Given the description of an element on the screen output the (x, y) to click on. 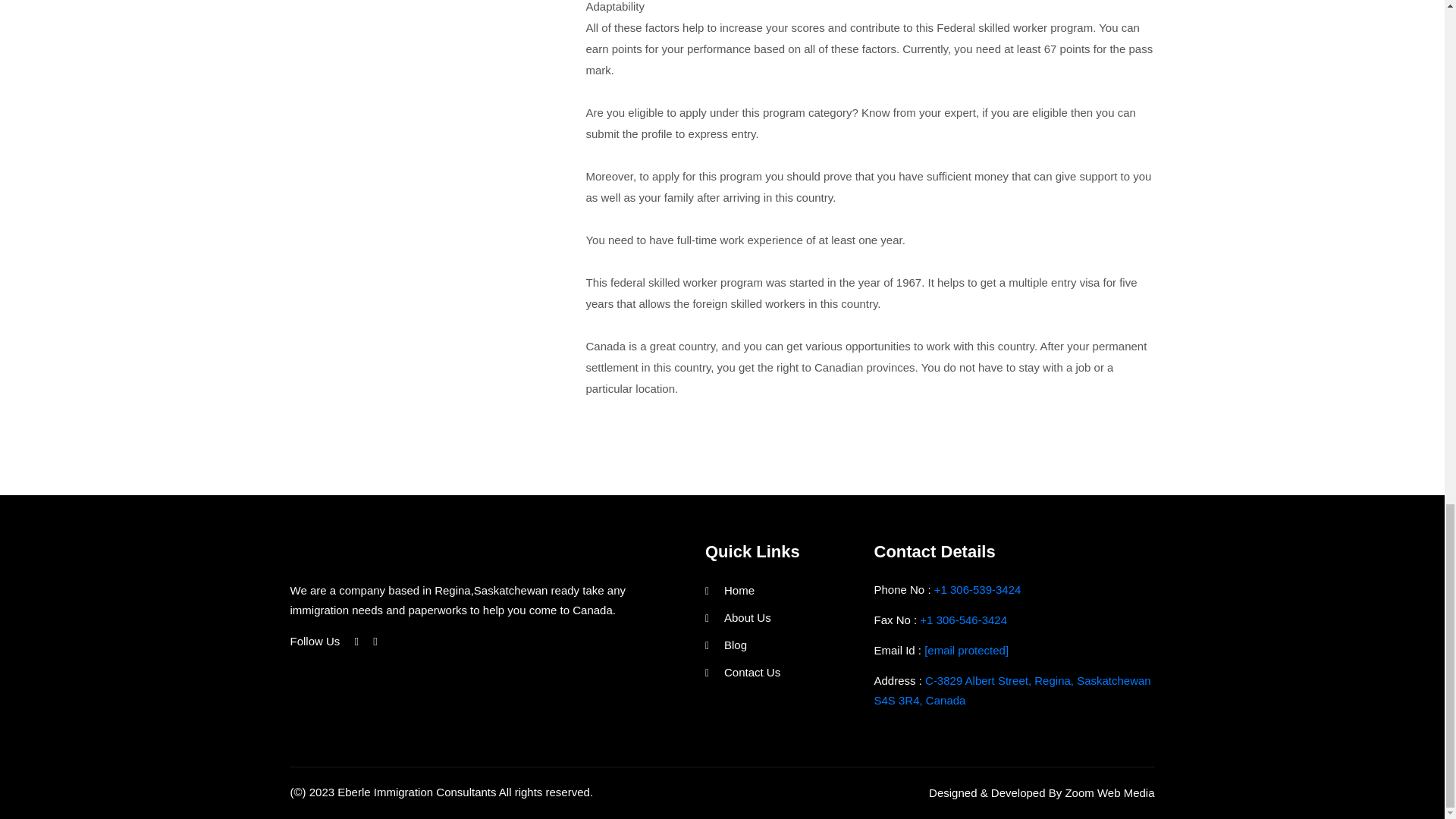
Follow Us (314, 640)
Home (729, 590)
